Given the description of an element on the screen output the (x, y) to click on. 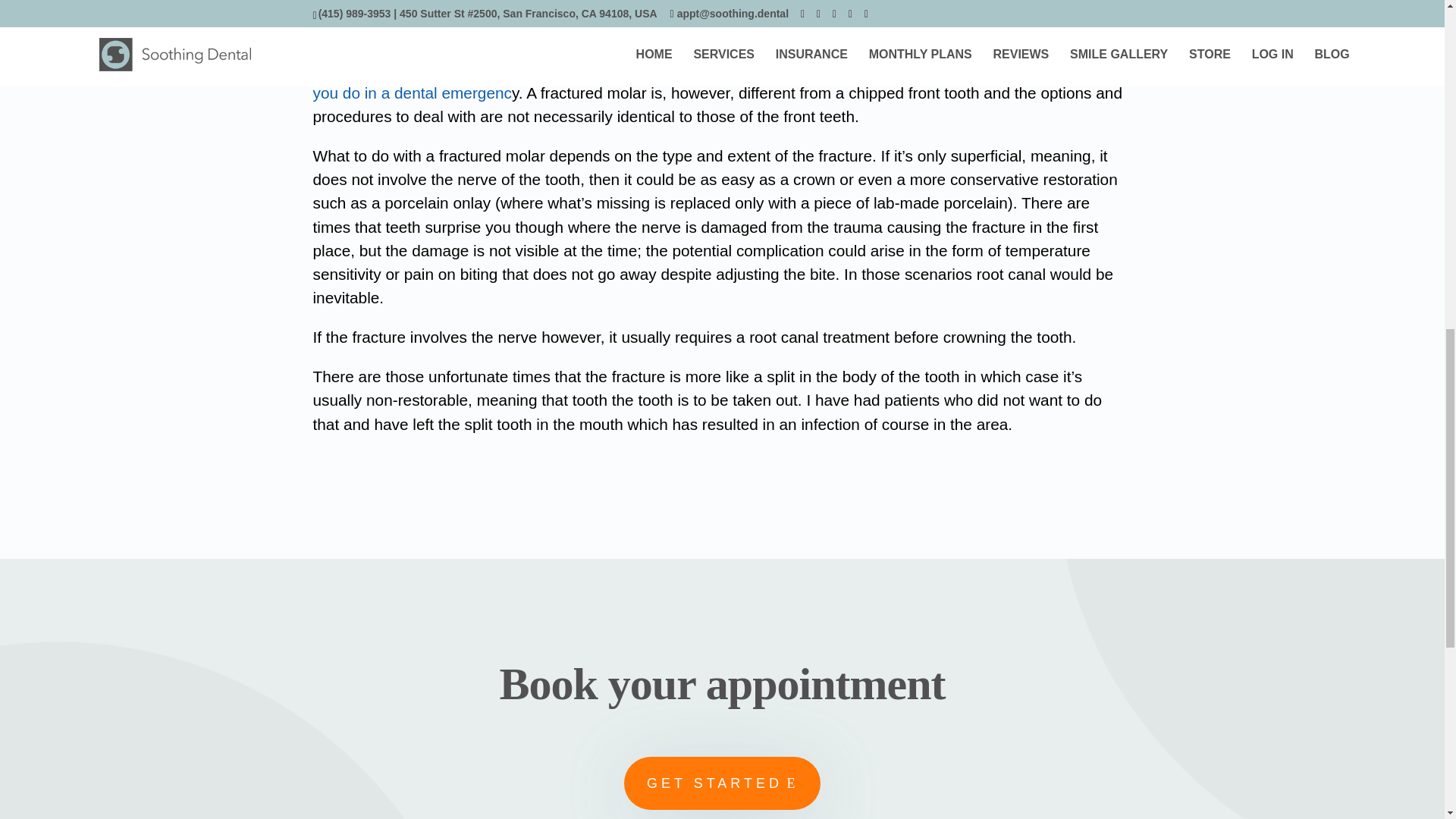
GET STARTED (722, 783)
solutions for chipped or fractured front tooth (677, 68)
what can you do in a dental emergenc (717, 80)
